Given the description of an element on the screen output the (x, y) to click on. 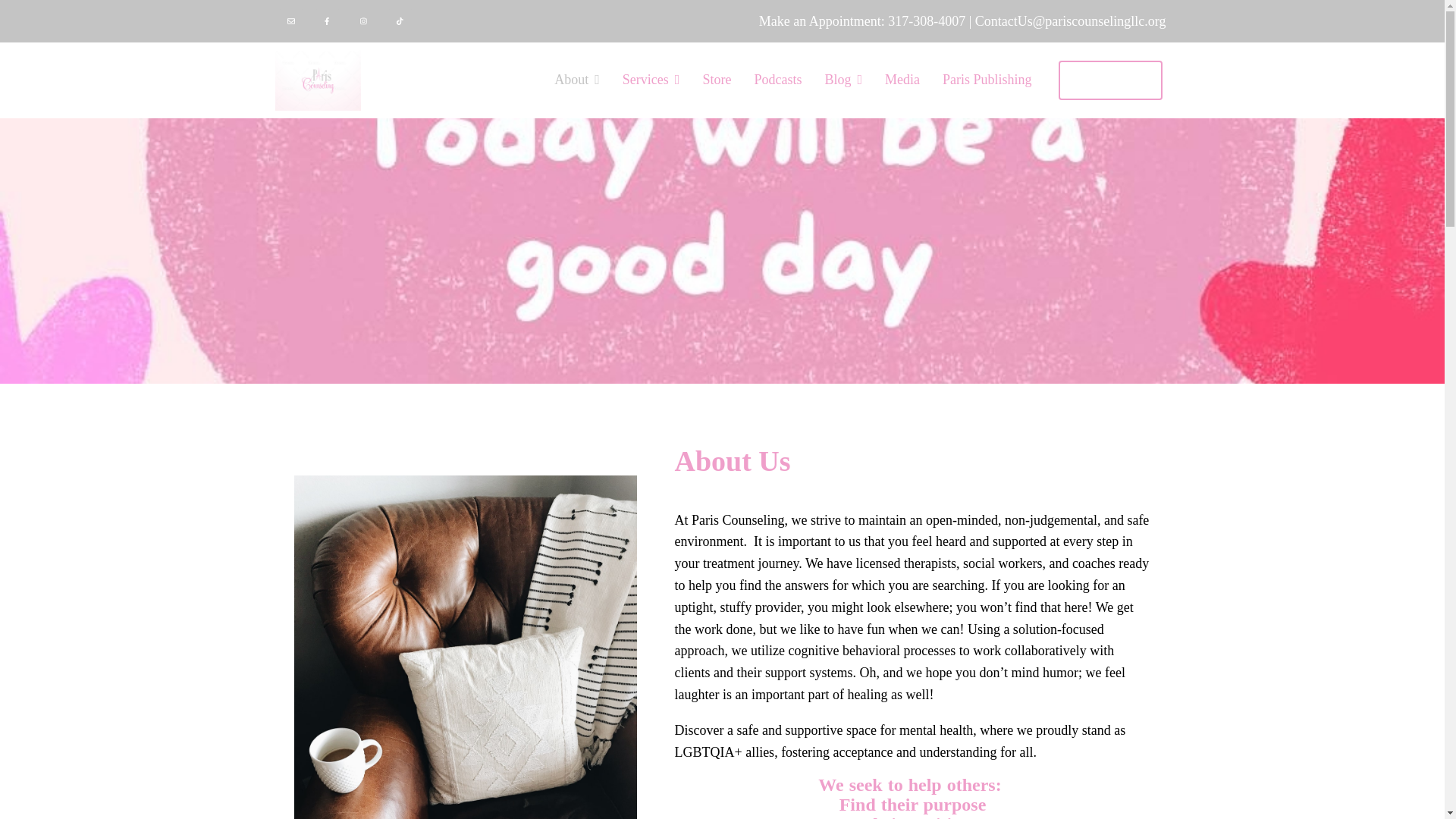
Media (902, 80)
Contact (1109, 79)
Store (715, 80)
Podcasts (778, 80)
Blog (842, 80)
Paris Publishing (987, 80)
Services (651, 80)
317-308-4007 (926, 20)
About (576, 80)
